Given the description of an element on the screen output the (x, y) to click on. 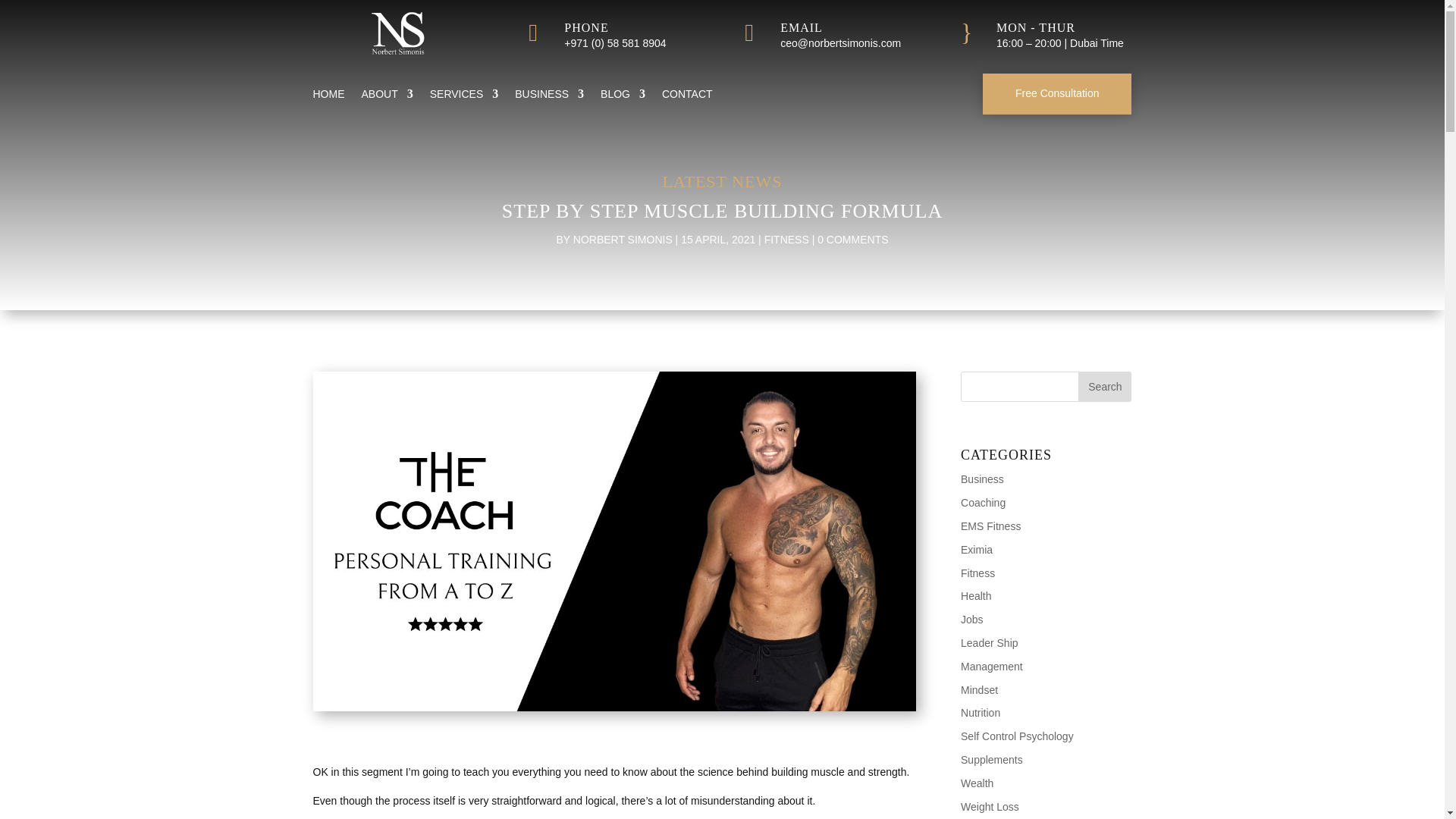
CONTACT (687, 96)
Norbert Simonis Logo (398, 33)
Posts by Norbert Simonis (622, 239)
BLOG (622, 96)
BUSINESS (549, 96)
SERVICES (464, 96)
ABOUT (386, 96)
Search (1104, 386)
HOME (328, 96)
